Given the description of an element on the screen output the (x, y) to click on. 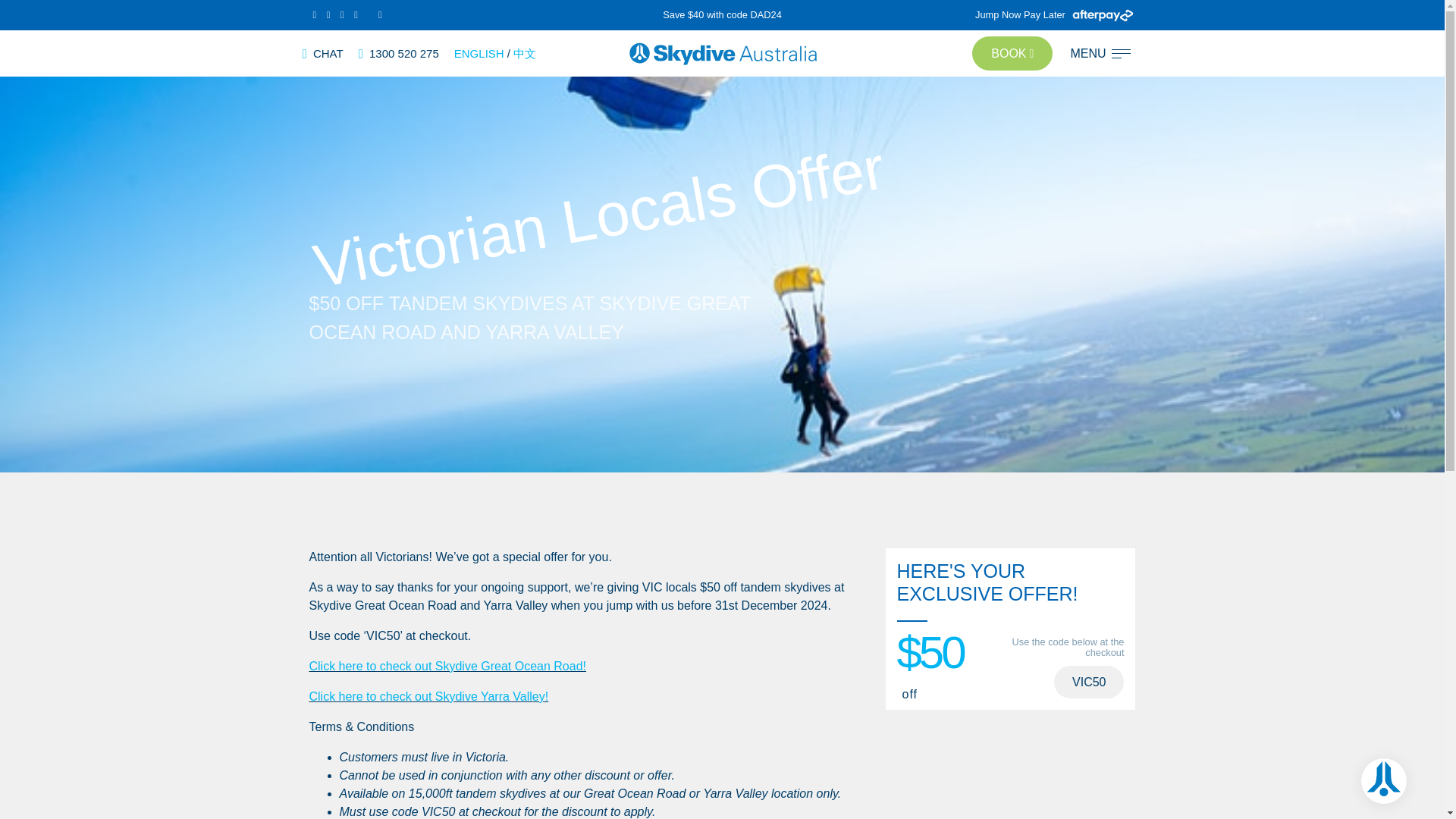
MENU (1099, 53)
BOOK (1012, 53)
1300 520 275 (398, 52)
CHAT (321, 52)
